Given the description of an element on the screen output the (x, y) to click on. 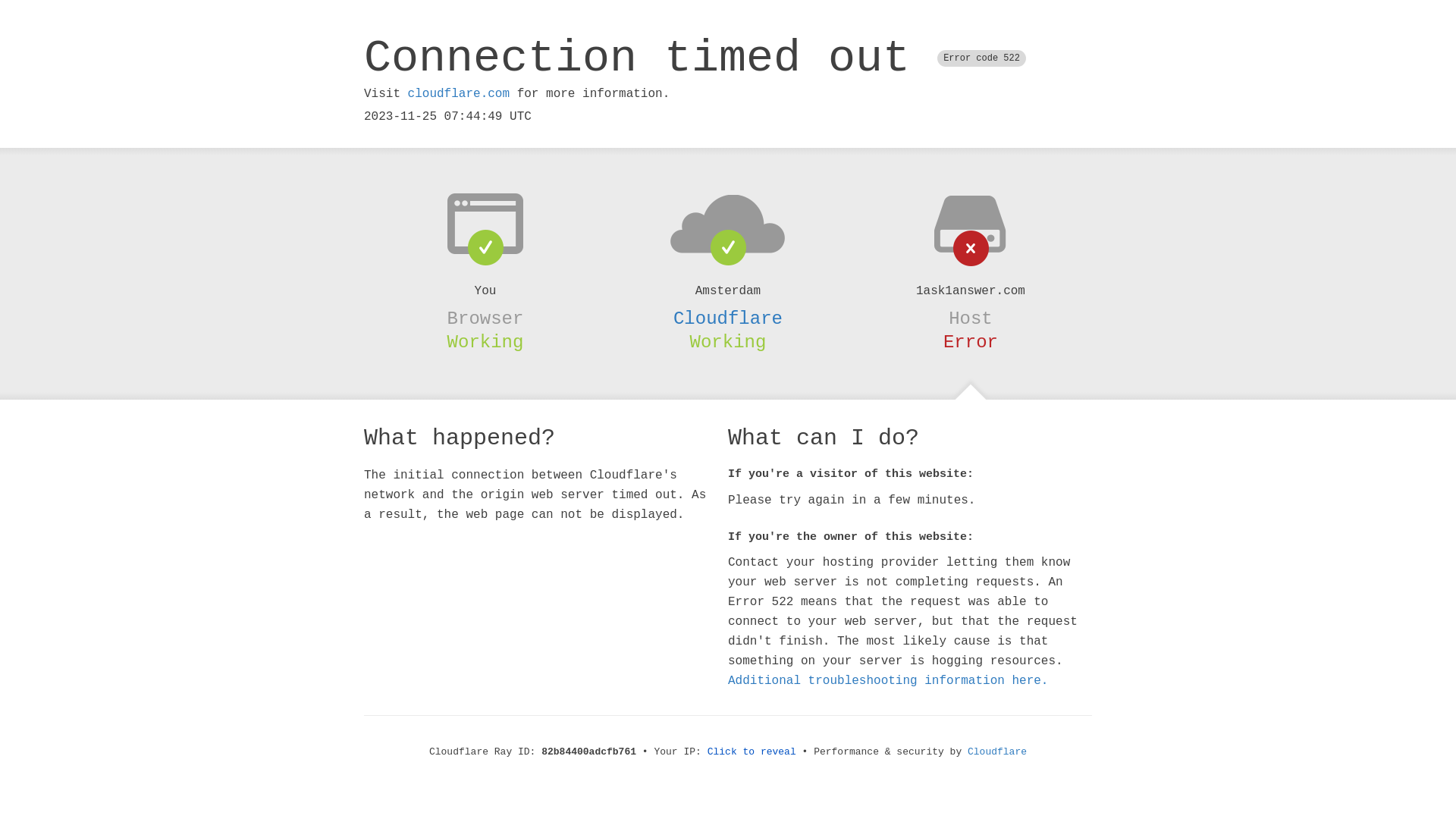
Click to reveal Element type: text (751, 751)
Cloudflare Element type: text (996, 751)
Cloudflare Element type: text (727, 318)
Additional troubleshooting information here. Element type: text (888, 680)
cloudflare.com Element type: text (458, 93)
